Given the description of an element on the screen output the (x, y) to click on. 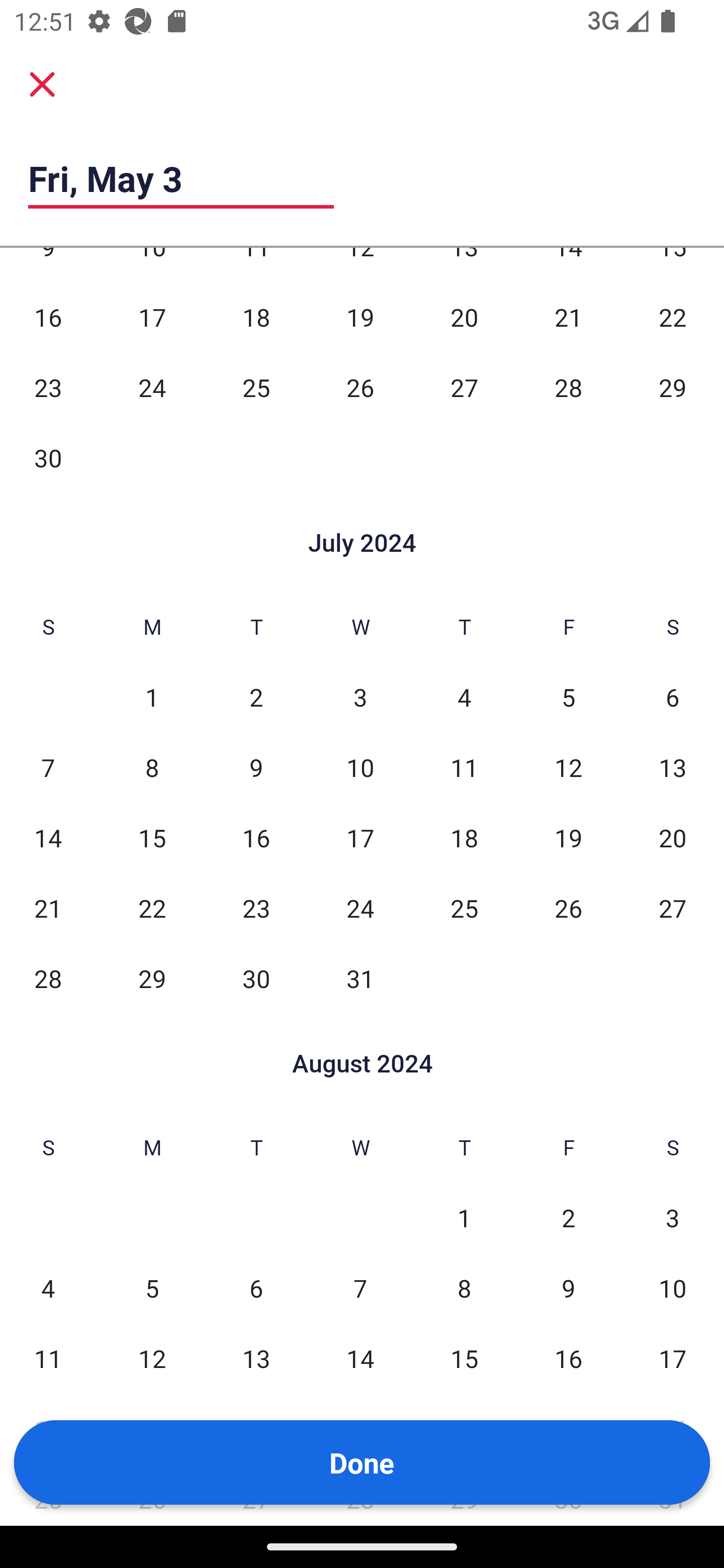
Cancel (42, 84)
Fri, May 3 (180, 178)
16 Sun, Jun 16, Not Selected (48, 317)
17 Mon, Jun 17, Not Selected (152, 317)
18 Tue, Jun 18, Not Selected (256, 317)
19 Wed, Jun 19, Not Selected (360, 317)
20 Thu, Jun 20, Not Selected (464, 317)
21 Fri, Jun 21, Not Selected (568, 317)
22 Sat, Jun 22, Not Selected (672, 317)
23 Sun, Jun 23, Not Selected (48, 387)
24 Mon, Jun 24, Not Selected (152, 387)
25 Tue, Jun 25, Not Selected (256, 387)
26 Wed, Jun 26, Not Selected (360, 387)
27 Thu, Jun 27, Not Selected (464, 387)
28 Fri, Jun 28, Not Selected (568, 387)
29 Sat, Jun 29, Not Selected (672, 387)
30 Sun, Jun 30, Not Selected (48, 457)
1 Mon, Jul 1, Not Selected (152, 696)
2 Tue, Jul 2, Not Selected (256, 696)
3 Wed, Jul 3, Not Selected (360, 696)
4 Thu, Jul 4, Not Selected (464, 696)
5 Fri, Jul 5, Not Selected (568, 696)
6 Sat, Jul 6, Not Selected (672, 696)
7 Sun, Jul 7, Not Selected (48, 767)
8 Mon, Jul 8, Not Selected (152, 767)
9 Tue, Jul 9, Not Selected (256, 767)
10 Wed, Jul 10, Not Selected (360, 767)
11 Thu, Jul 11, Not Selected (464, 767)
12 Fri, Jul 12, Not Selected (568, 767)
13 Sat, Jul 13, Not Selected (672, 767)
14 Sun, Jul 14, Not Selected (48, 837)
15 Mon, Jul 15, Not Selected (152, 837)
16 Tue, Jul 16, Not Selected (256, 837)
17 Wed, Jul 17, Not Selected (360, 837)
18 Thu, Jul 18, Not Selected (464, 837)
19 Fri, Jul 19, Not Selected (568, 837)
20 Sat, Jul 20, Not Selected (672, 837)
21 Sun, Jul 21, Not Selected (48, 908)
22 Mon, Jul 22, Not Selected (152, 908)
23 Tue, Jul 23, Not Selected (256, 908)
24 Wed, Jul 24, Not Selected (360, 908)
25 Thu, Jul 25, Not Selected (464, 908)
26 Fri, Jul 26, Not Selected (568, 908)
27 Sat, Jul 27, Not Selected (672, 908)
28 Sun, Jul 28, Not Selected (48, 977)
29 Mon, Jul 29, Not Selected (152, 977)
30 Tue, Jul 30, Not Selected (256, 977)
31 Wed, Jul 31, Not Selected (360, 977)
1 Thu, Aug 1, Not Selected (464, 1217)
2 Fri, Aug 2, Not Selected (568, 1217)
3 Sat, Aug 3, Not Selected (672, 1217)
4 Sun, Aug 4, Not Selected (48, 1287)
5 Mon, Aug 5, Not Selected (152, 1287)
6 Tue, Aug 6, Not Selected (256, 1287)
7 Wed, Aug 7, Not Selected (360, 1287)
8 Thu, Aug 8, Not Selected (464, 1287)
9 Fri, Aug 9, Not Selected (568, 1287)
10 Sat, Aug 10, Not Selected (672, 1287)
11 Sun, Aug 11, Not Selected (48, 1358)
12 Mon, Aug 12, Not Selected (152, 1358)
13 Tue, Aug 13, Not Selected (256, 1358)
14 Wed, Aug 14, Not Selected (360, 1358)
15 Thu, Aug 15, Not Selected (464, 1358)
16 Fri, Aug 16, Not Selected (568, 1358)
17 Sat, Aug 17, Not Selected (672, 1358)
